Given the description of an element on the screen output the (x, y) to click on. 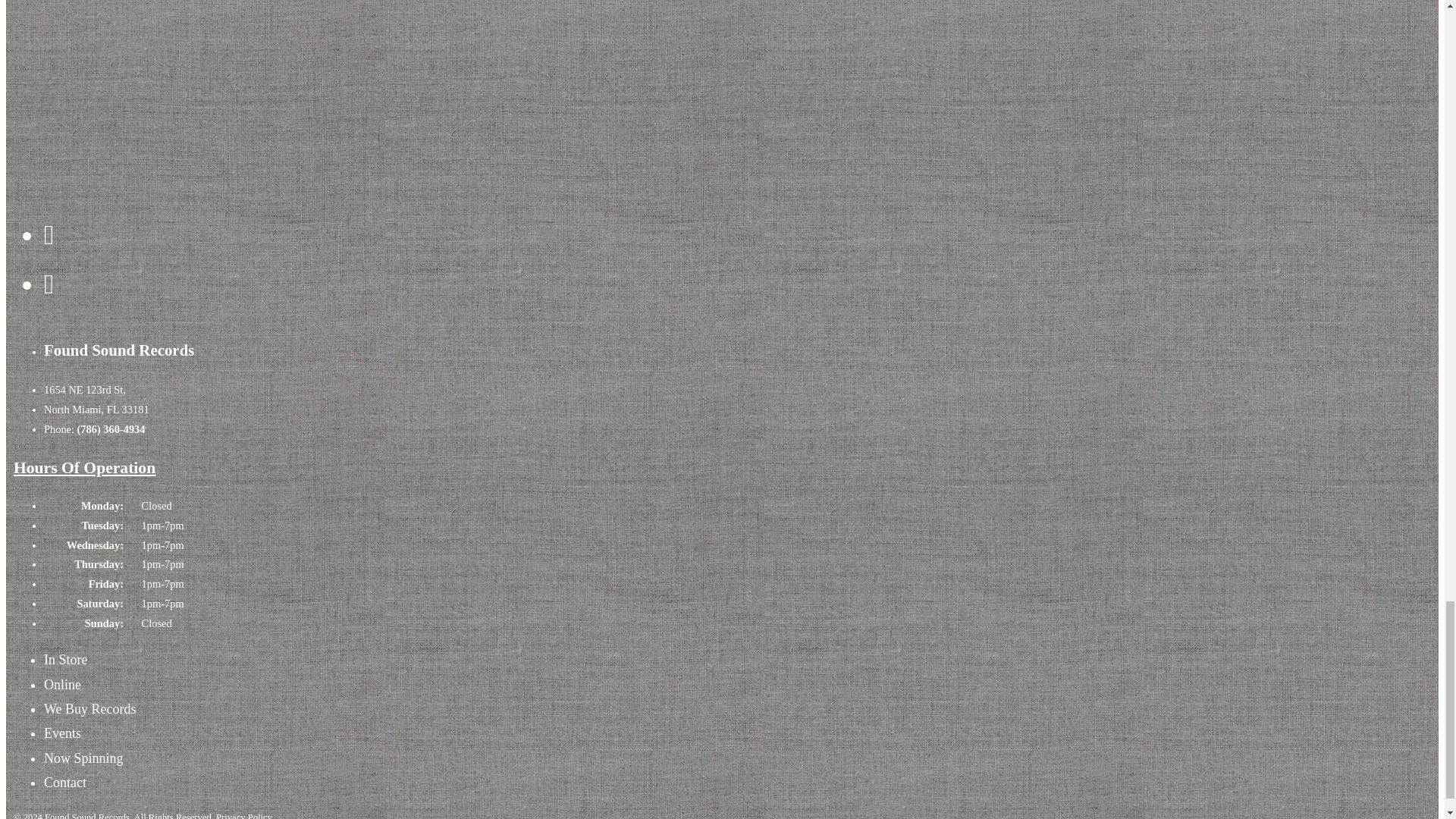
Online (62, 684)
Now Spinning (83, 758)
Privacy Policy. (244, 815)
We Buy Records (89, 708)
Events (62, 733)
Contact (64, 782)
In Store (65, 659)
